Given the description of an element on the screen output the (x, y) to click on. 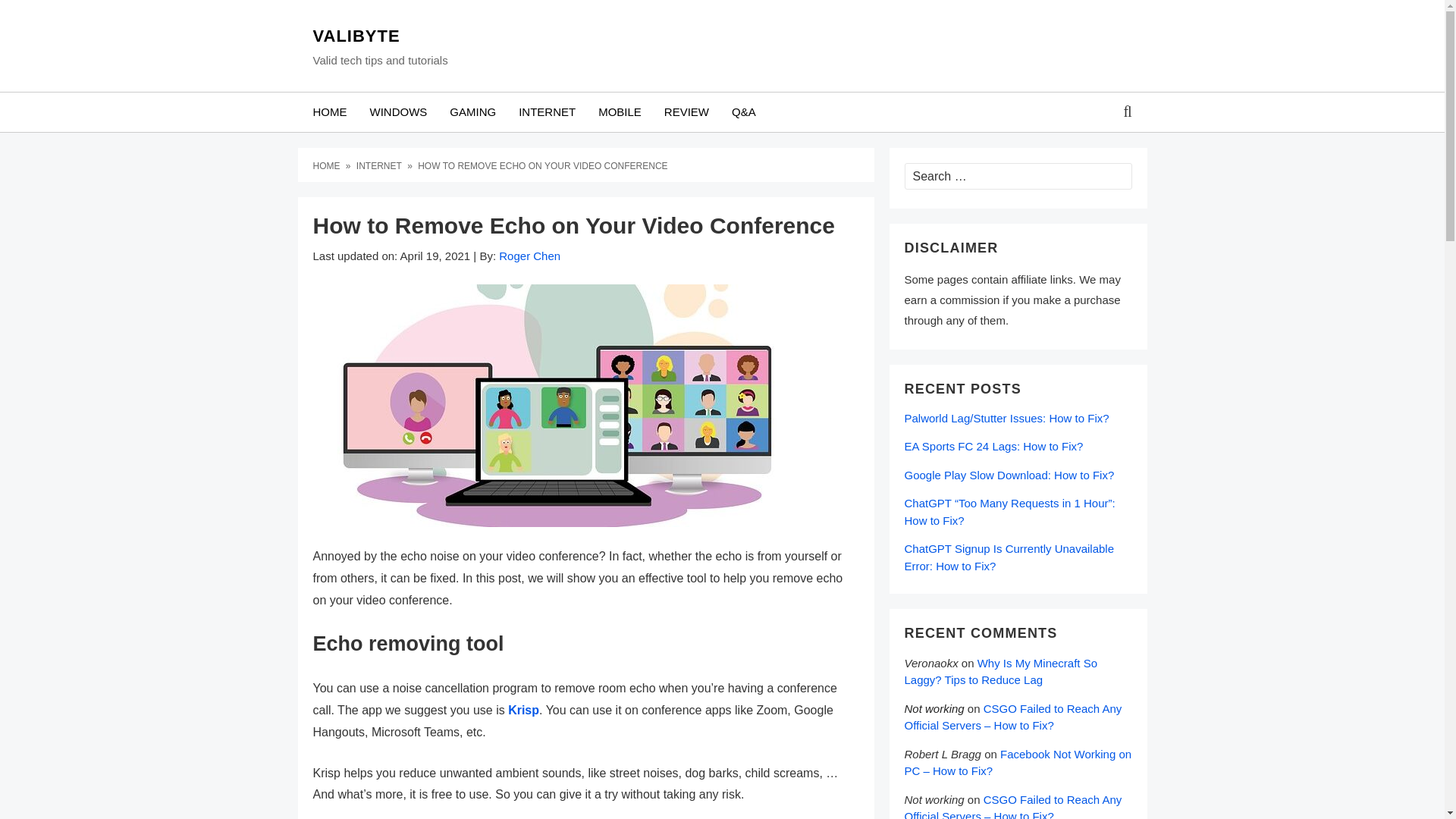
WINDOWS (398, 111)
VALIBYTE (379, 35)
HOME (329, 111)
Krisp (523, 709)
REVIEW (686, 111)
GAMING (472, 111)
HOME (327, 165)
EA Sports FC 24 Lags: How to Fix? (993, 445)
MOBILE (619, 111)
Home (327, 165)
Roger Chen (529, 255)
Internet (380, 165)
